Given the description of an element on the screen output the (x, y) to click on. 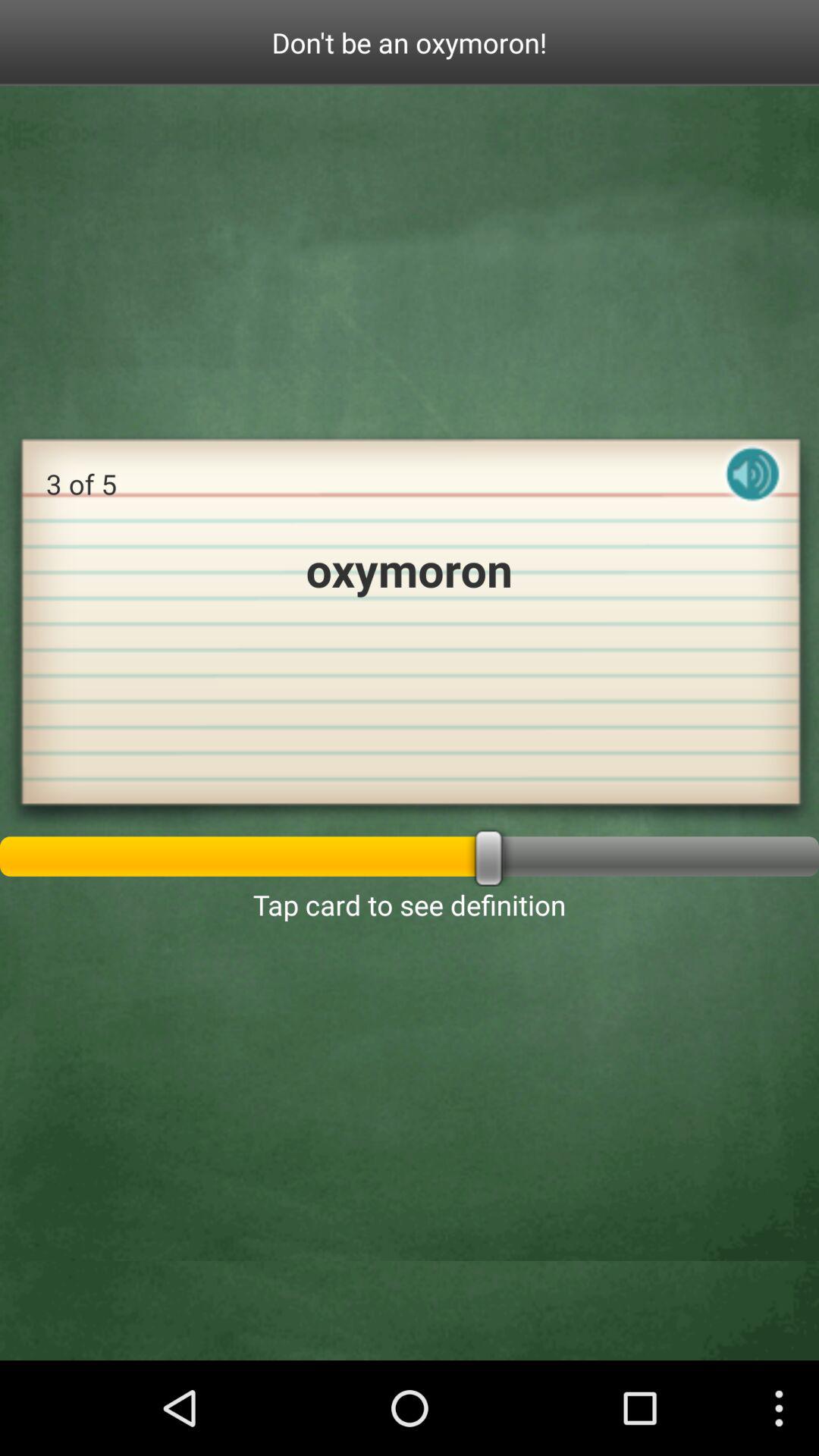
toggle sound on/off (752, 486)
